Given the description of an element on the screen output the (x, y) to click on. 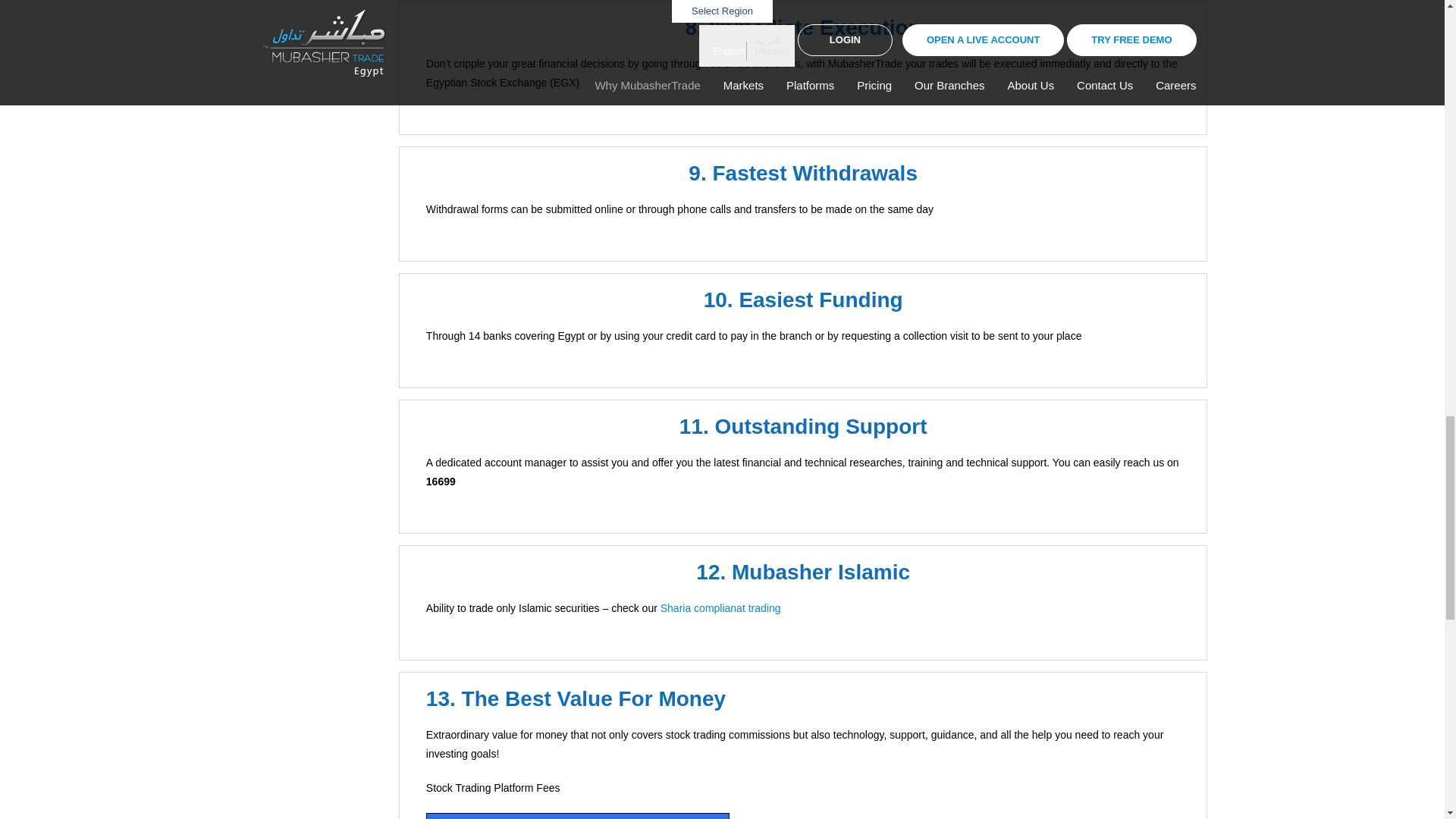
Sharia complianat trading (720, 607)
